Given the description of an element on the screen output the (x, y) to click on. 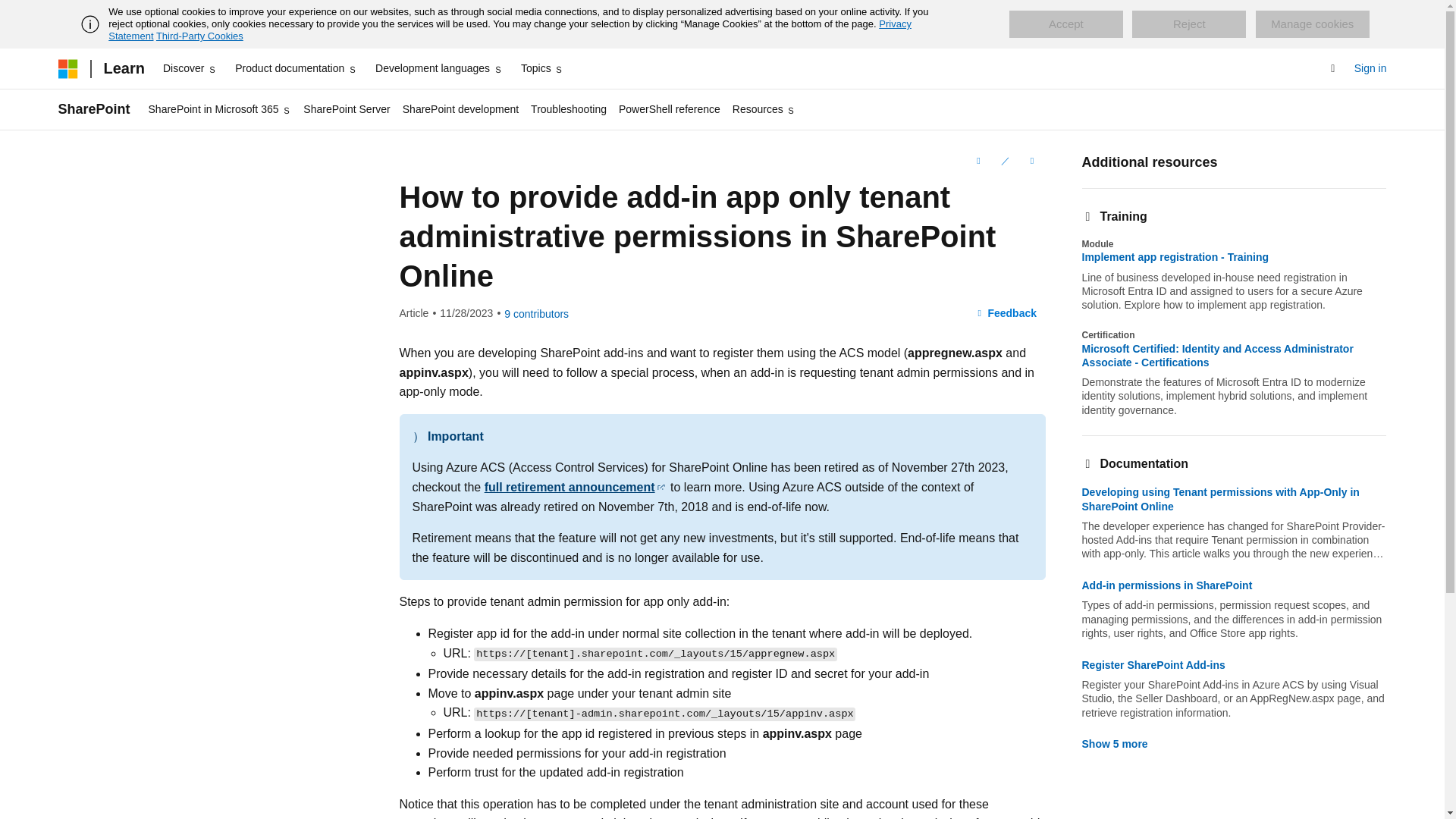
SharePoint in Microsoft 365 (220, 109)
Privacy Statement (509, 29)
SharePoint Server (346, 109)
Reject (1189, 23)
SharePoint (93, 109)
Skip to main content (11, 11)
Development languages (438, 68)
More actions (1031, 160)
Troubleshooting (568, 109)
Sign in (1370, 68)
